Given the description of an element on the screen output the (x, y) to click on. 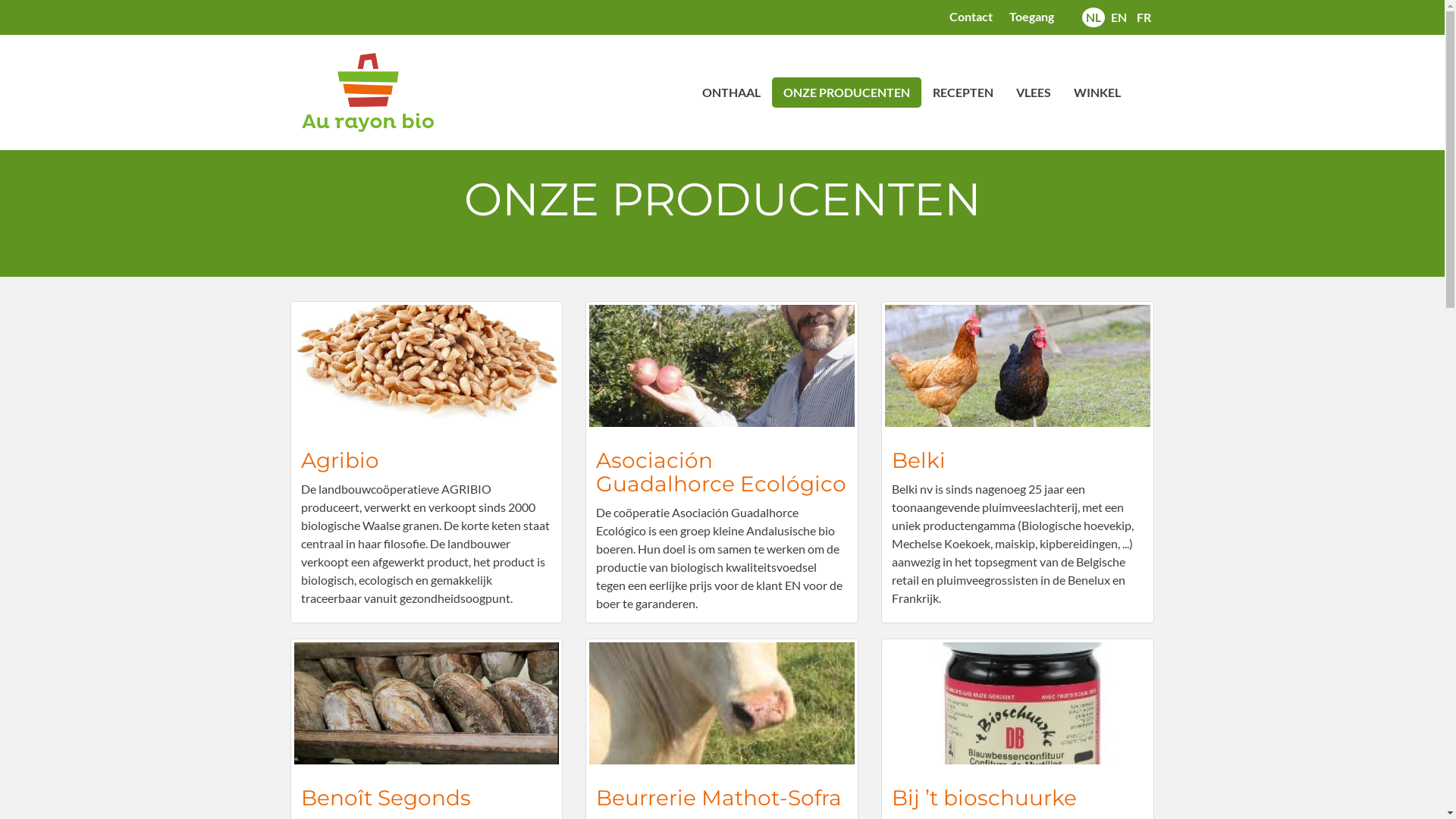
RECEPTEN Element type: text (962, 92)
ONTHAAL Element type: text (730, 92)
Contact Element type: text (970, 16)
Toegang Element type: text (1030, 16)
ONZE PRODUCENTEN Element type: text (846, 92)
Onthaal Element type: hover (373, 92)
FR Element type: text (1142, 16)
EN Element type: text (1118, 16)
WINKEL Element type: text (1096, 92)
Overslaan en naar de inhoud gaan Element type: text (0, 0)
VLEES Element type: text (1032, 92)
NL Element type: text (1093, 16)
